Given the description of an element on the screen output the (x, y) to click on. 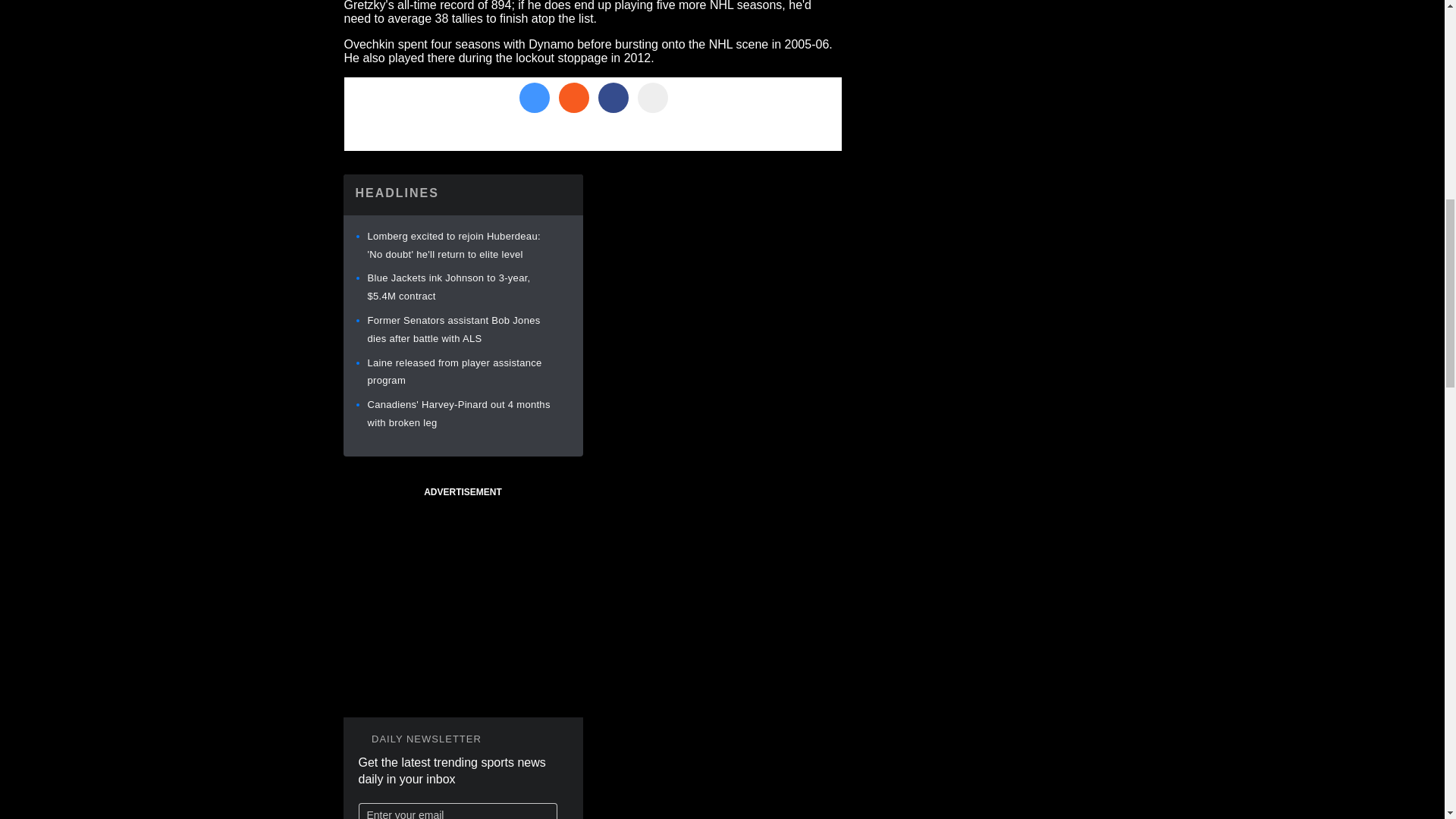
Canadiens' Harvey-Pinard out 4 months with broken leg (458, 413)
Laine released from player assistance program (453, 371)
Reddit (572, 97)
Twitter (533, 97)
Facebook (611, 97)
Email (651, 97)
